Given the description of an element on the screen output the (x, y) to click on. 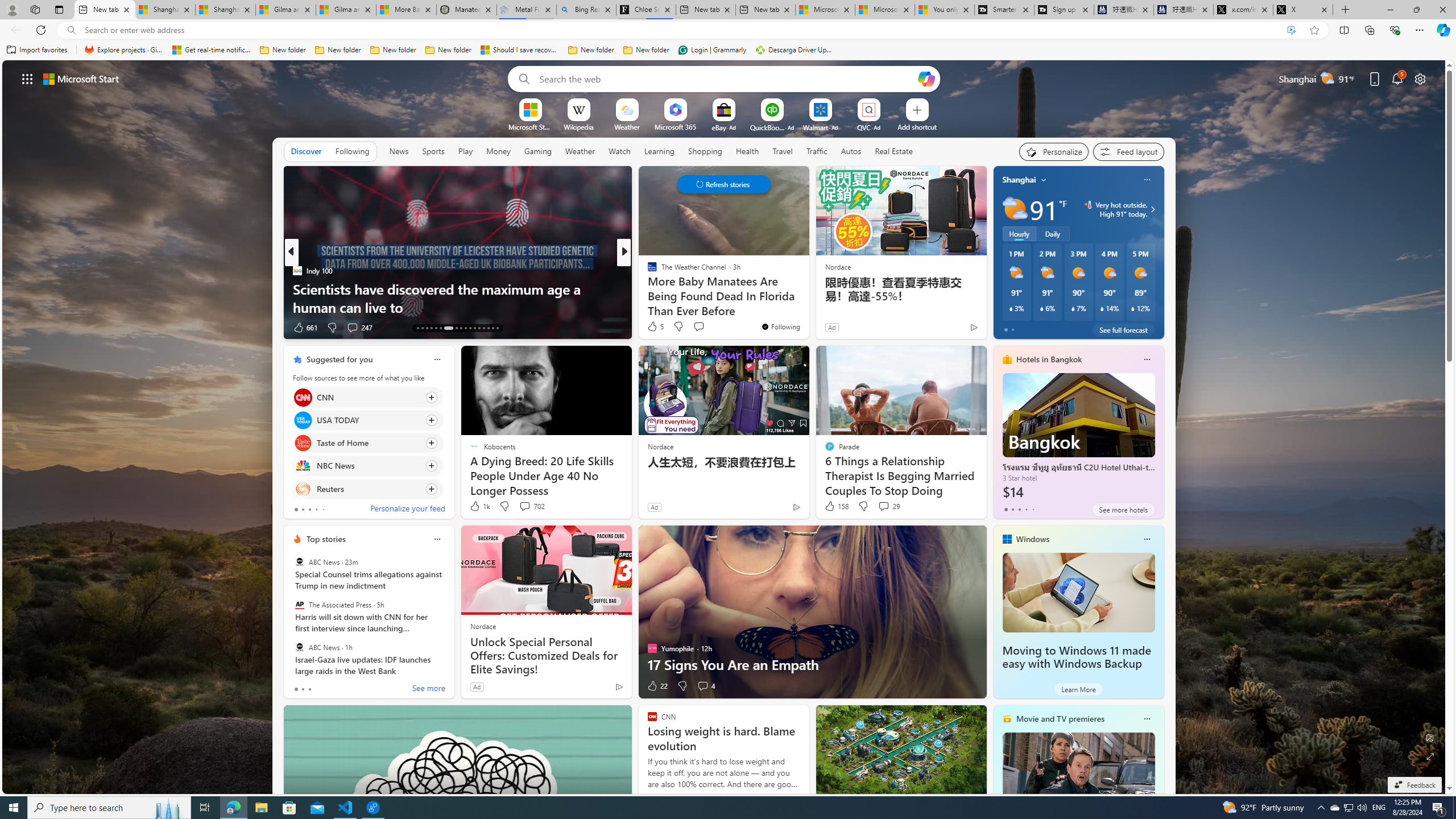
View comments 702 Comment (530, 505)
View comments 4 Comment (705, 685)
Should I save recovered Word documents? - Microsoft Support (519, 49)
ETNT Mind+Body (647, 270)
You're following The Weather Channel (780, 326)
Class: weather-current-precipitation-glyph (1133, 308)
Autos (851, 151)
BuzzFeed (647, 270)
View comments 1 Comment (698, 327)
Sports (432, 151)
tab-0 (295, 689)
